Given the description of an element on the screen output the (x, y) to click on. 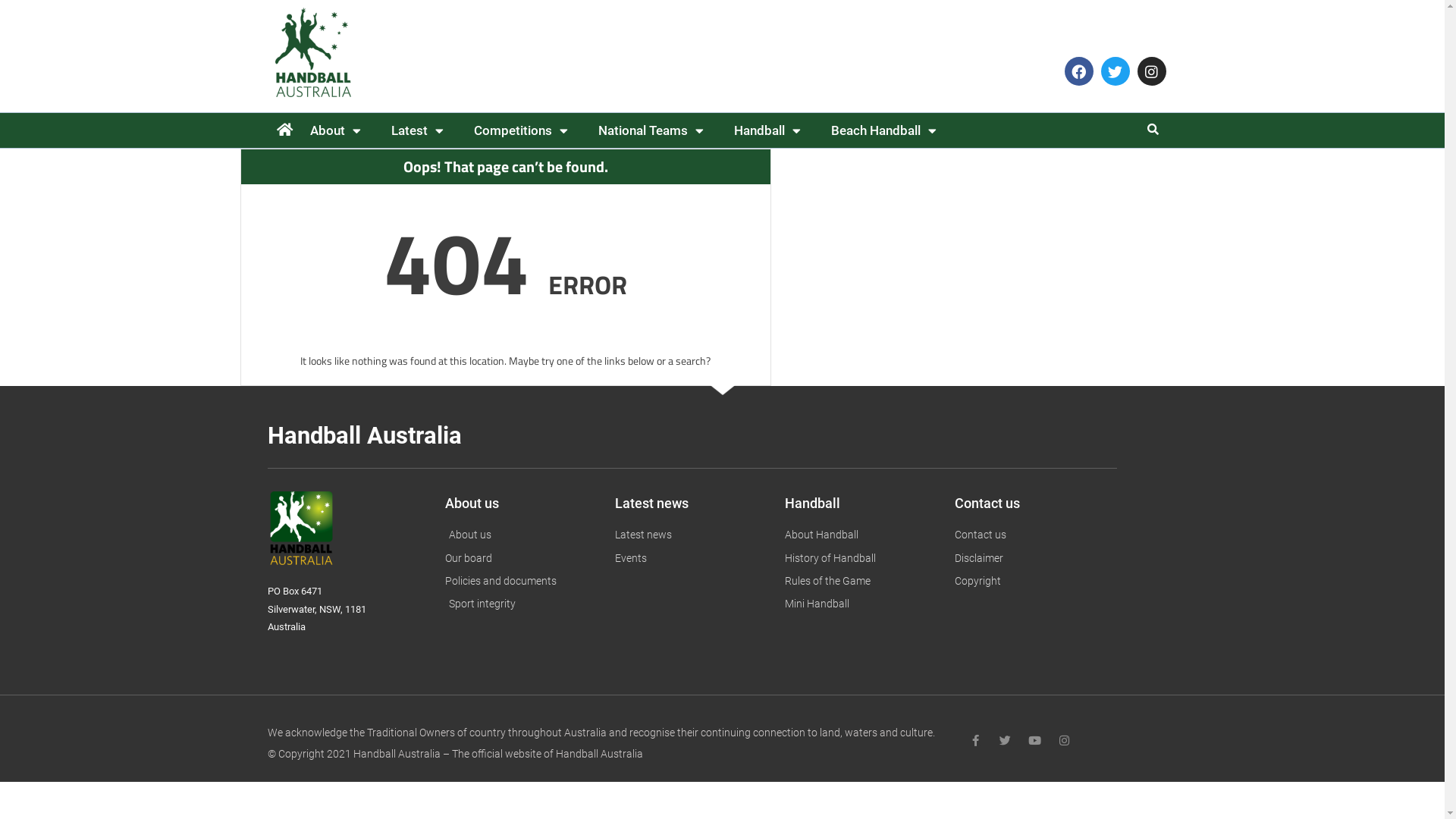
Handball Element type: text (766, 129)
Mini Handball Element type: text (861, 603)
About us Element type: text (521, 534)
Our board Element type: text (521, 558)
Rules of the Game Element type: text (861, 580)
Latest Element type: text (417, 129)
About Handball Element type: text (861, 534)
National Teams Element type: text (650, 129)
Policies and documents Element type: text (521, 580)
Sport integrity Element type: text (521, 603)
Latest news Element type: text (691, 534)
Beach Handball Element type: text (883, 129)
About Element type: text (334, 129)
Events Element type: text (691, 558)
Disclaimer Element type: text (1030, 558)
Competitions Element type: text (520, 129)
Contact us Element type: text (1030, 534)
History of Handball Element type: text (861, 558)
Search Element type: hover (1150, 129)
